Given the description of an element on the screen output the (x, y) to click on. 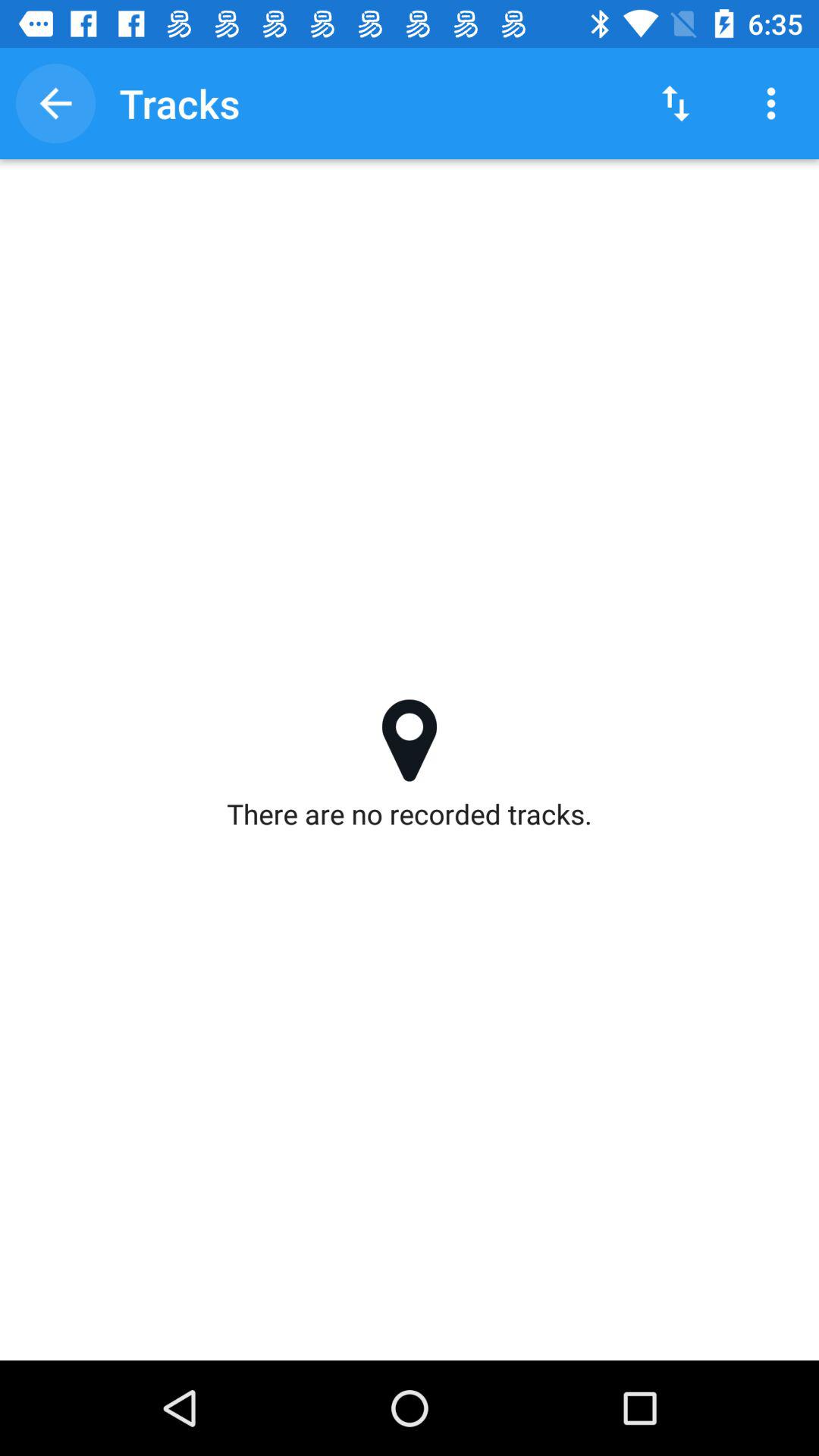
click the item to the right of tracks app (675, 103)
